Given the description of an element on the screen output the (x, y) to click on. 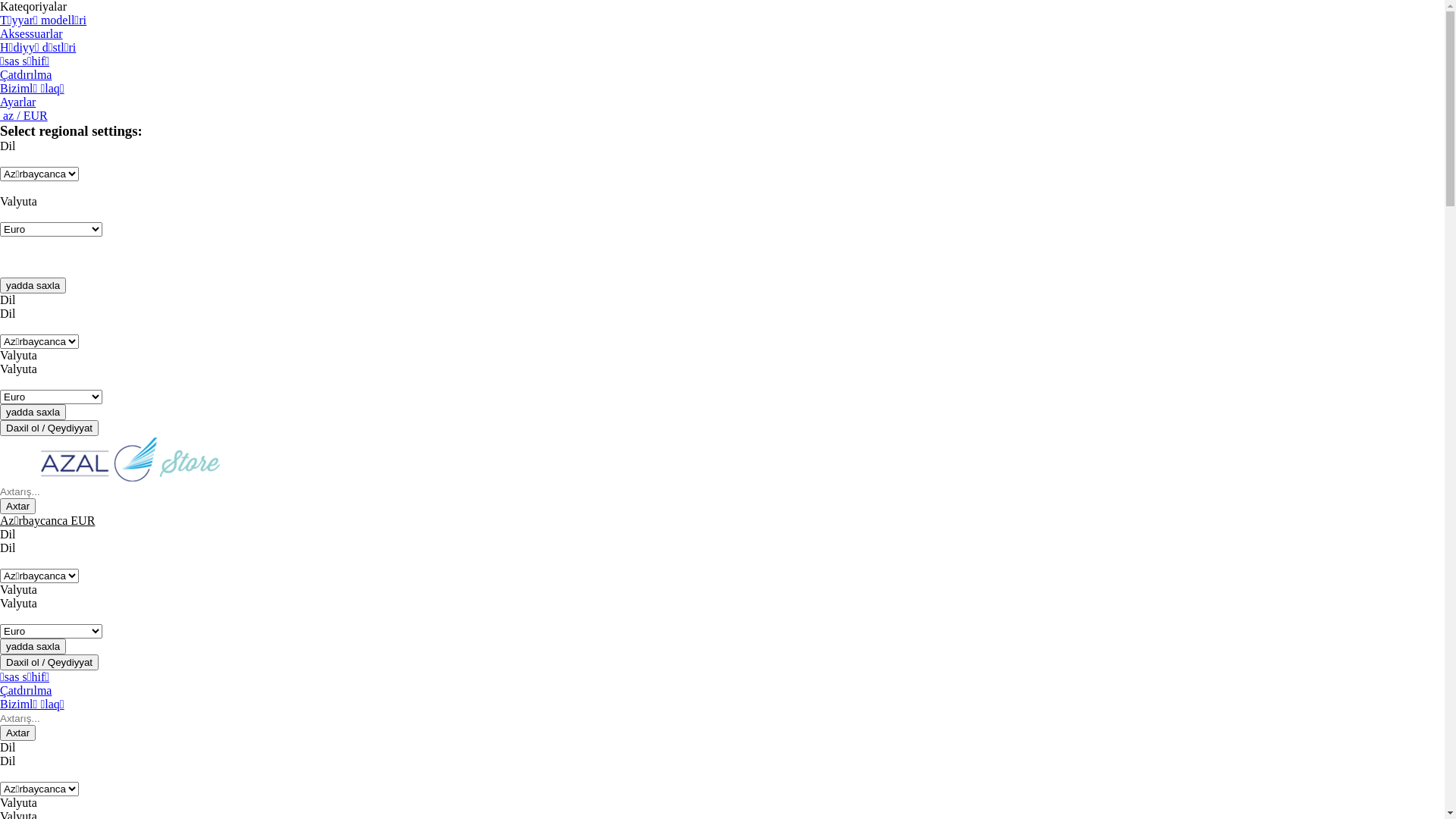
Axtar Element type: text (17, 732)
yadda saxla Element type: text (32, 285)
Ayarlar Element type: text (17, 101)
Daxil ol / Qeydiyyat Element type: text (49, 428)
Axtar Element type: text (17, 506)
az / EUR Element type: text (23, 115)
Aksessuarlar Element type: text (31, 33)
Daxil ol / Qeydiyyat Element type: text (49, 662)
yadda saxla Element type: text (32, 412)
yadda saxla Element type: text (32, 646)
